Given the description of an element on the screen output the (x, y) to click on. 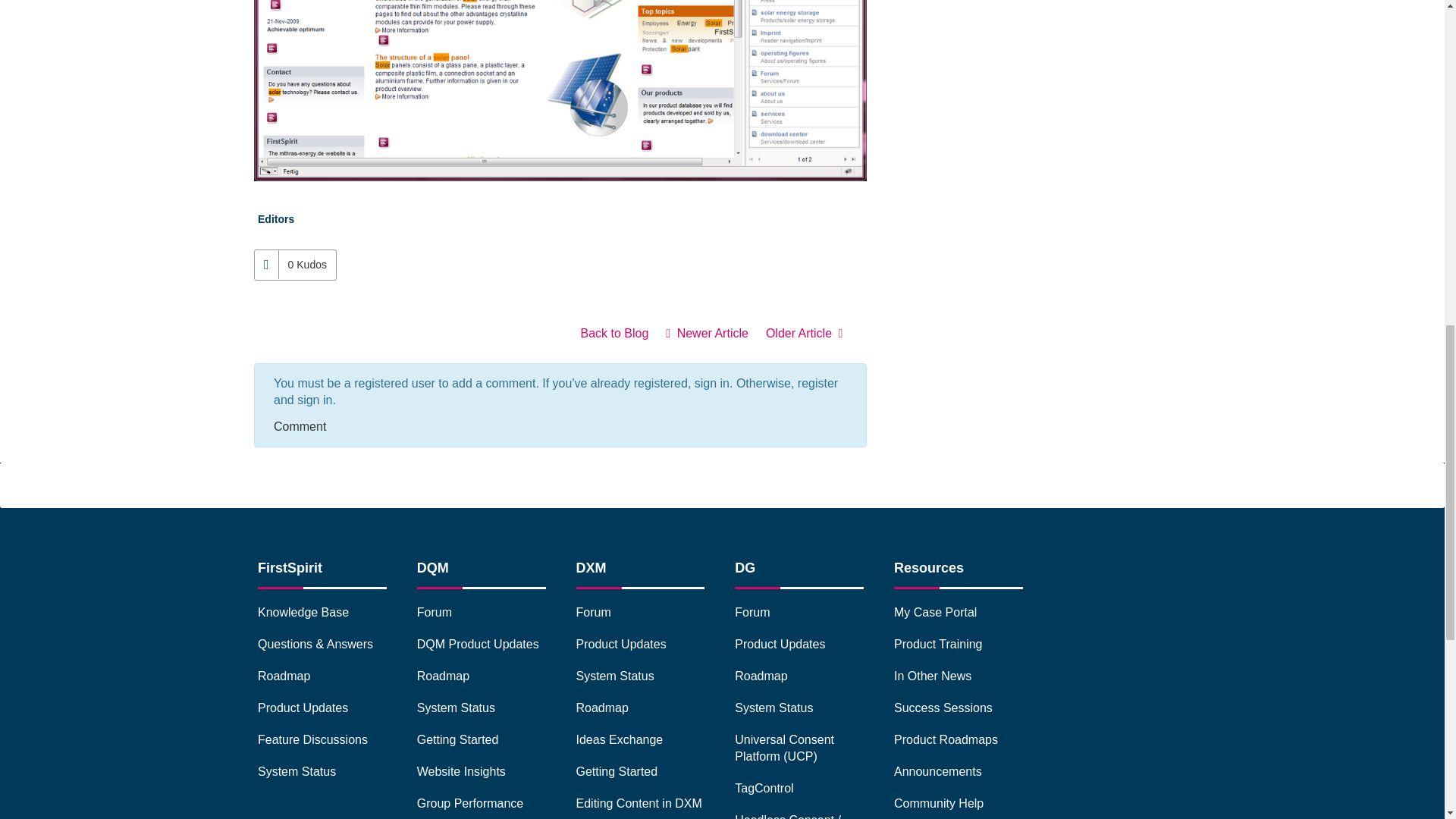
Unbenannt.png (559, 90)
The total number of kudos this post has received. (307, 264)
